Given the description of an element on the screen output the (x, y) to click on. 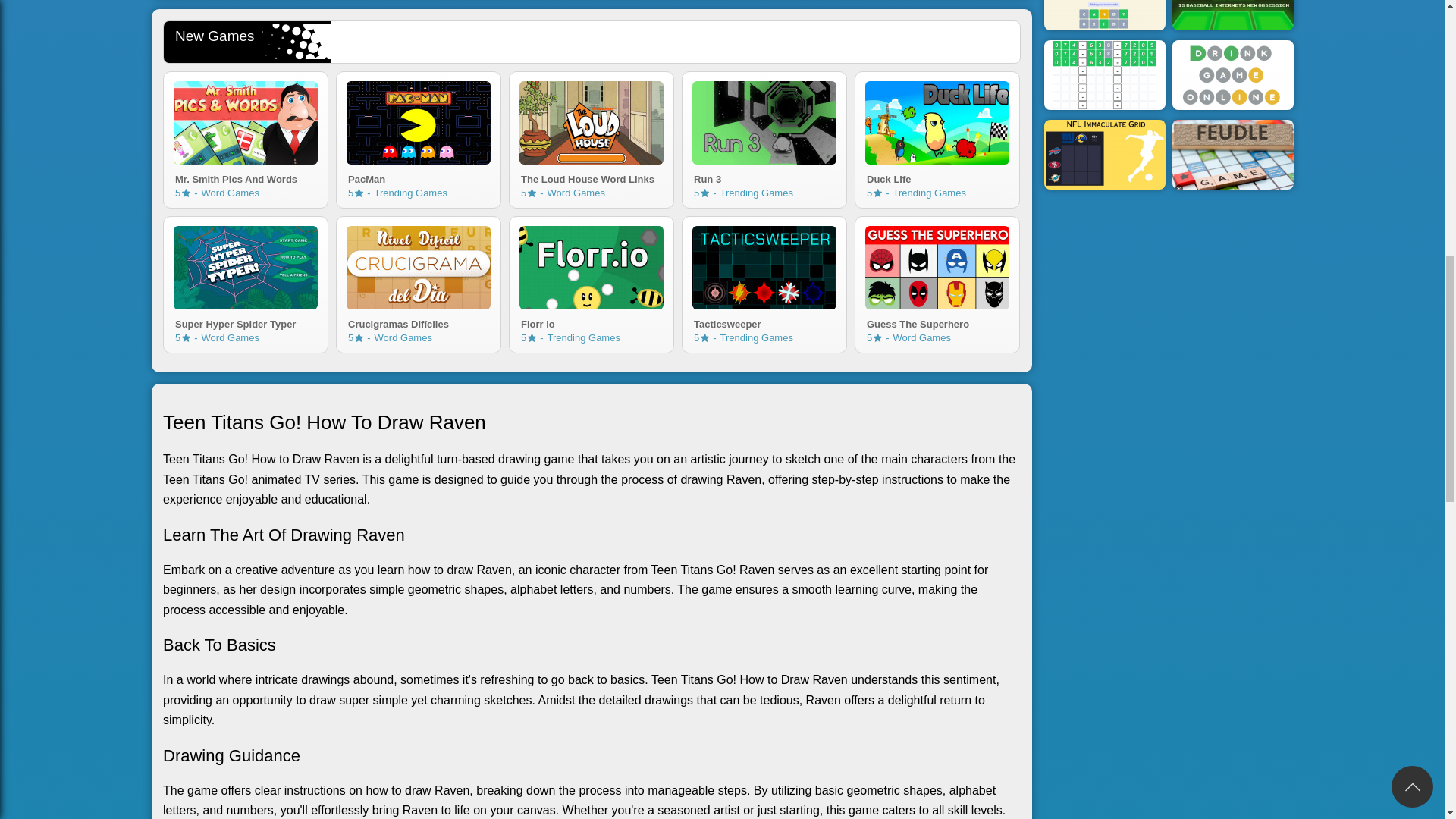
numrate (704, 193)
numrate (531, 193)
numrate (186, 337)
numrate (418, 177)
Duck Life (764, 322)
numrate (358, 193)
Super Hyper Spider Typer (764, 177)
PacMan (245, 322)
